Given the description of an element on the screen output the (x, y) to click on. 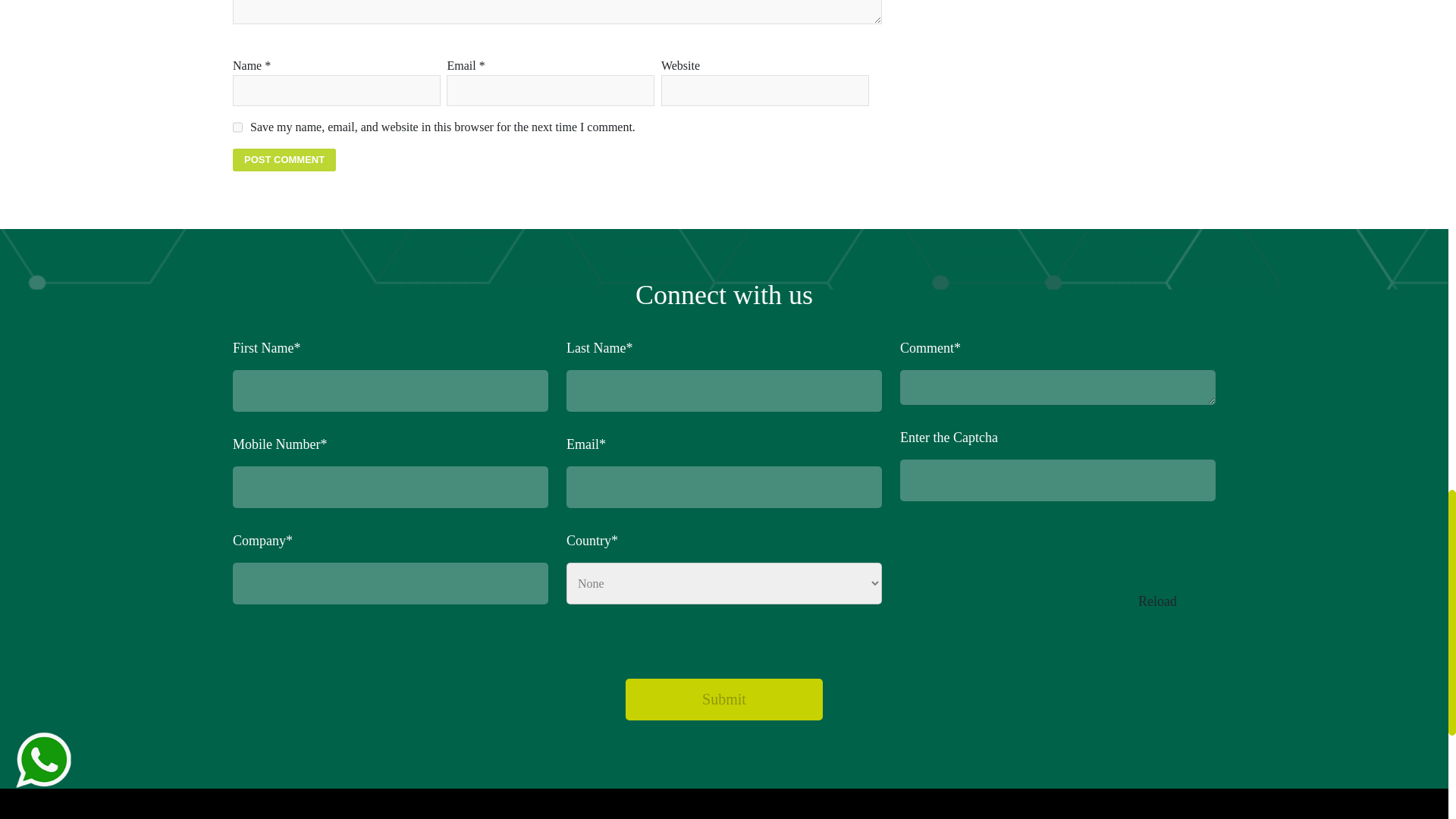
Submit (724, 698)
Submit (724, 698)
Post Comment (284, 159)
